Given the description of an element on the screen output the (x, y) to click on. 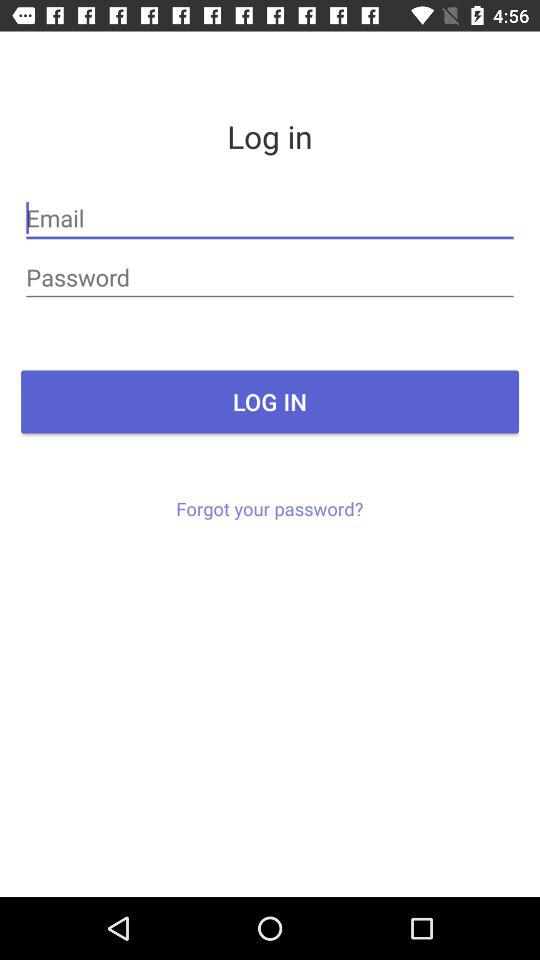
enter password (270, 277)
